Given the description of an element on the screen output the (x, y) to click on. 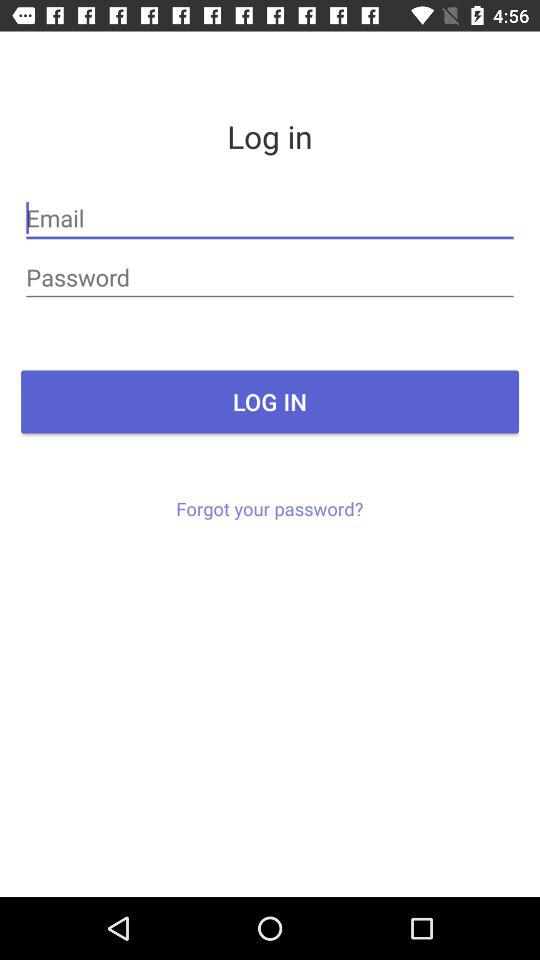
enter password (270, 277)
